Given the description of an element on the screen output the (x, y) to click on. 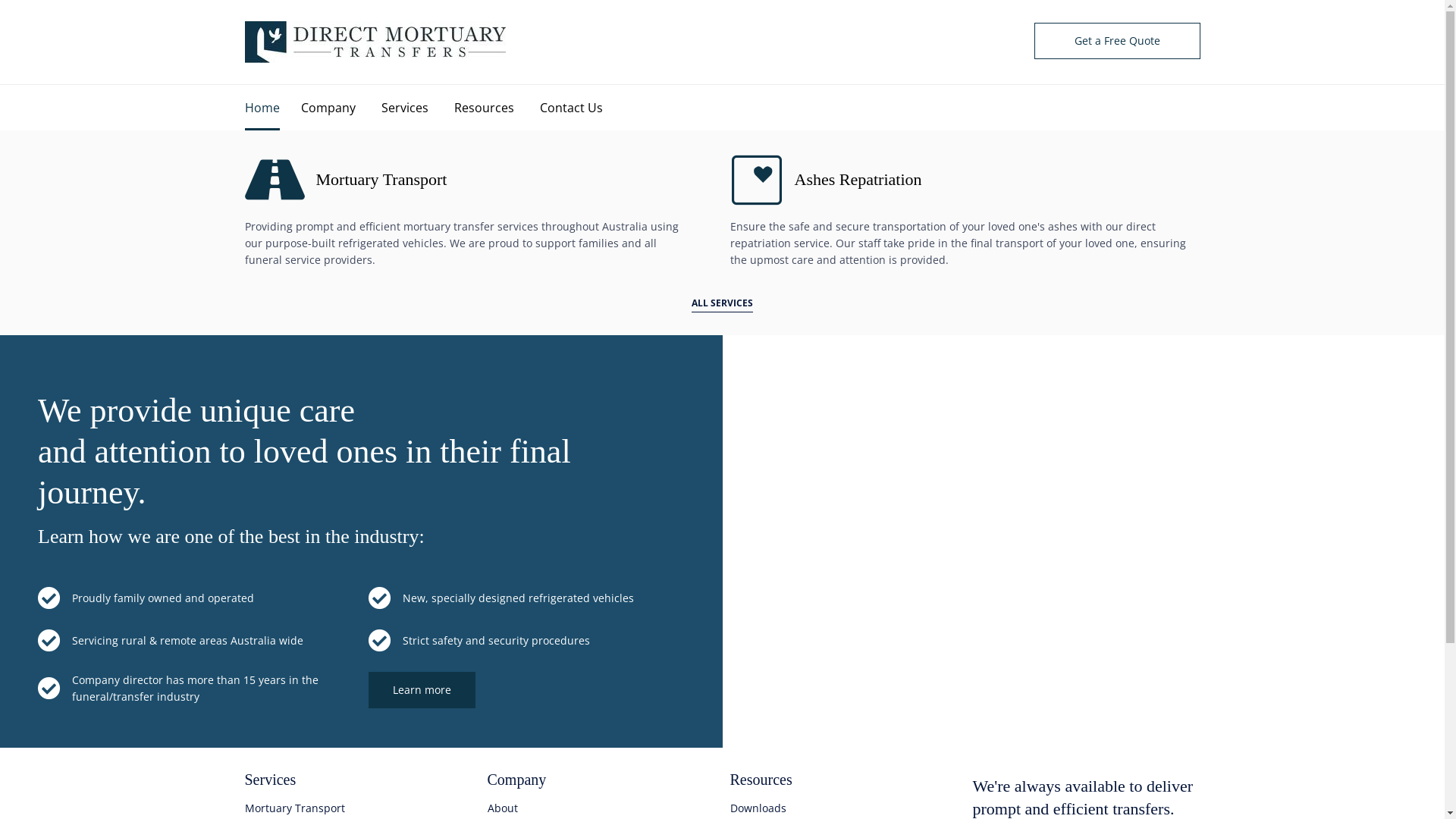
Services Element type: text (416, 107)
Direct Mortuary Transfers Australia Element type: hover (374, 41)
Contact Us Element type: text (583, 107)
Resources Element type: text (496, 107)
Skip to content Element type: text (721, 84)
Ashes Repatriation Element type: text (858, 179)
Learn more Element type: text (421, 689)
Home Element type: text (272, 107)
ALL SERVICES Element type: text (722, 303)
Get a Free Quote Element type: text (1117, 40)
Mortuary Transport Element type: text (380, 179)
Company Element type: text (340, 107)
